Given the description of an element on the screen output the (x, y) to click on. 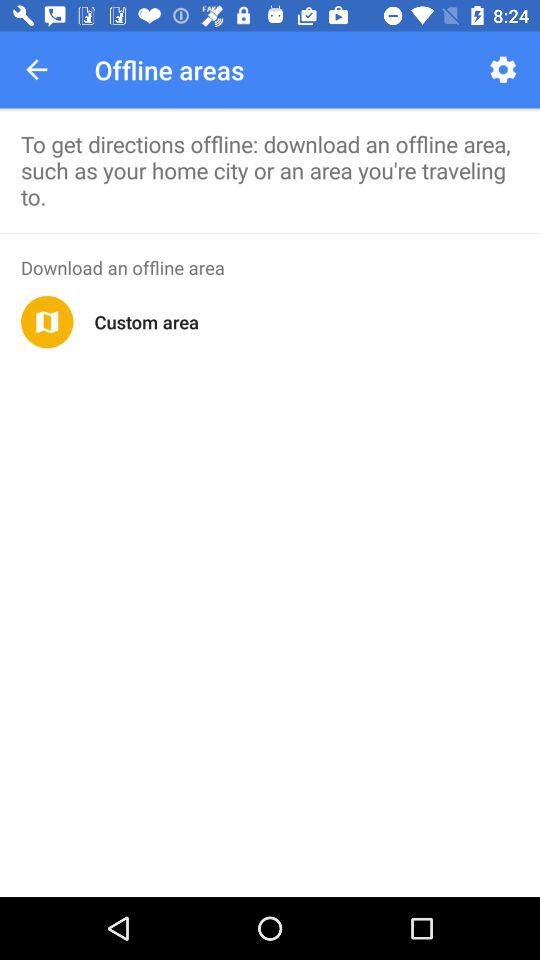
turn off the app next to the offline areas icon (36, 69)
